Given the description of an element on the screen output the (x, y) to click on. 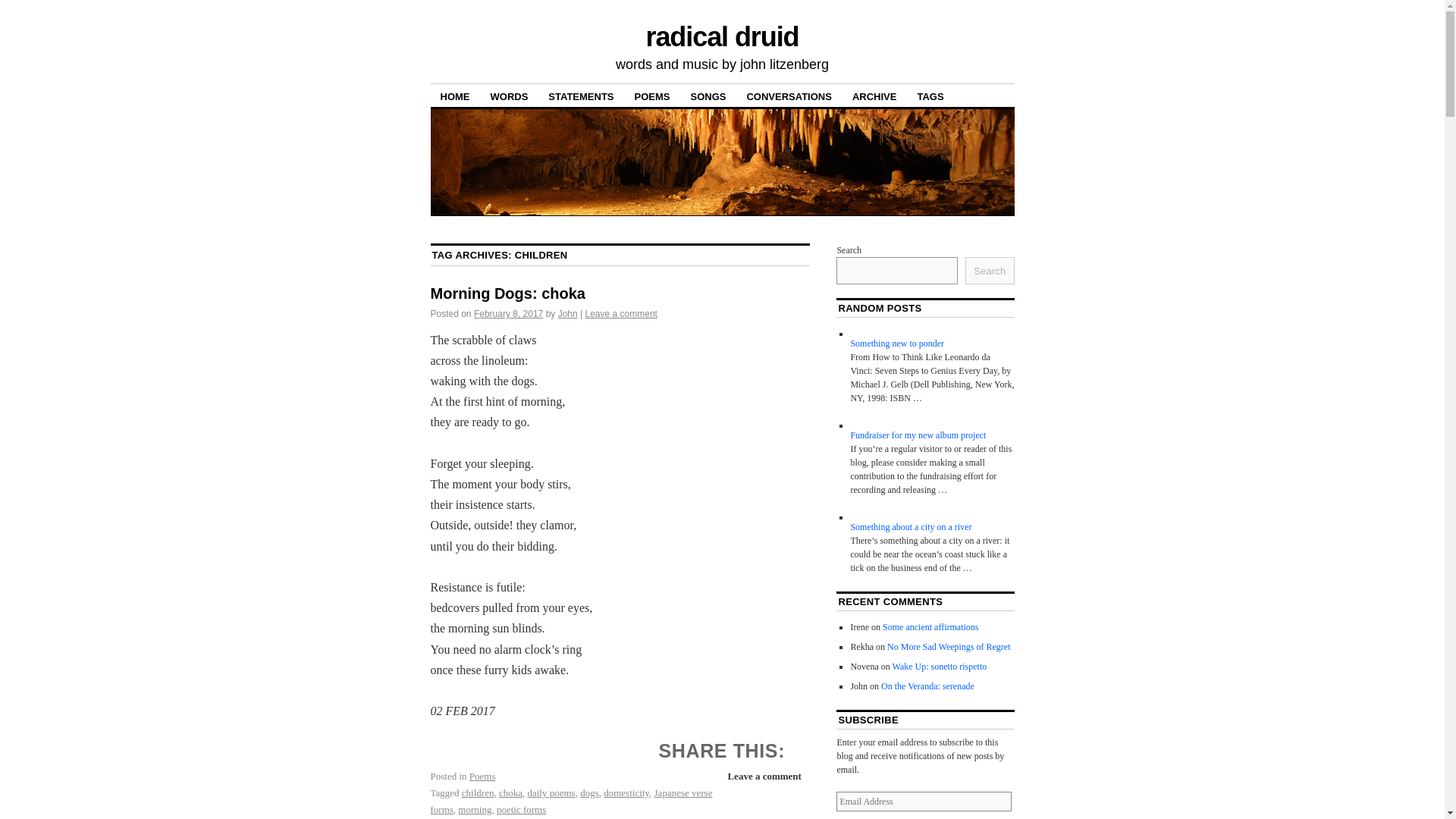
Leave a comment (763, 776)
TAGS (930, 96)
choka (510, 792)
daily poems (551, 792)
10:20 am (508, 313)
February 8, 2017 (508, 313)
ARCHIVE (875, 96)
radical druid (721, 36)
CONVERSATIONS (788, 96)
Morning Dogs: choka (507, 293)
John (567, 313)
View all posts by John (567, 313)
POEMS (651, 96)
STATEMENTS (580, 96)
children (478, 792)
